Given the description of an element on the screen output the (x, y) to click on. 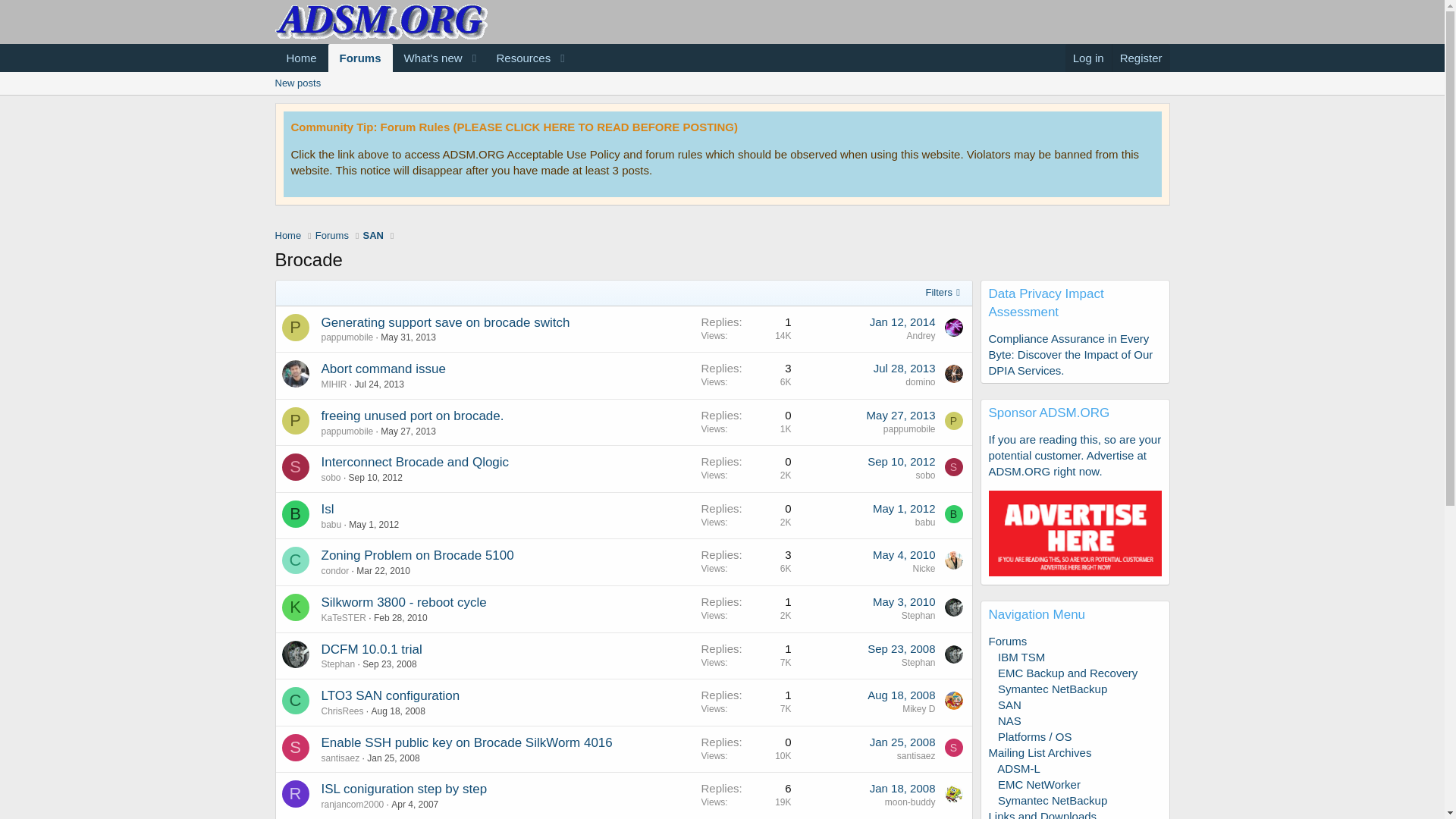
Jul 24, 2013 at 4:21 AM (379, 384)
New posts (720, 83)
May 1, 2012 at 7:52 AM (904, 508)
First message reaction score: 0 (745, 329)
Sep 10, 2012 at 10:20 AM (376, 477)
Home (288, 235)
First message reaction score: 0 (745, 421)
First message reaction score: 0 (745, 515)
First message reaction score: 0 (745, 561)
pappumobile (347, 337)
